Given the description of an element on the screen output the (x, y) to click on. 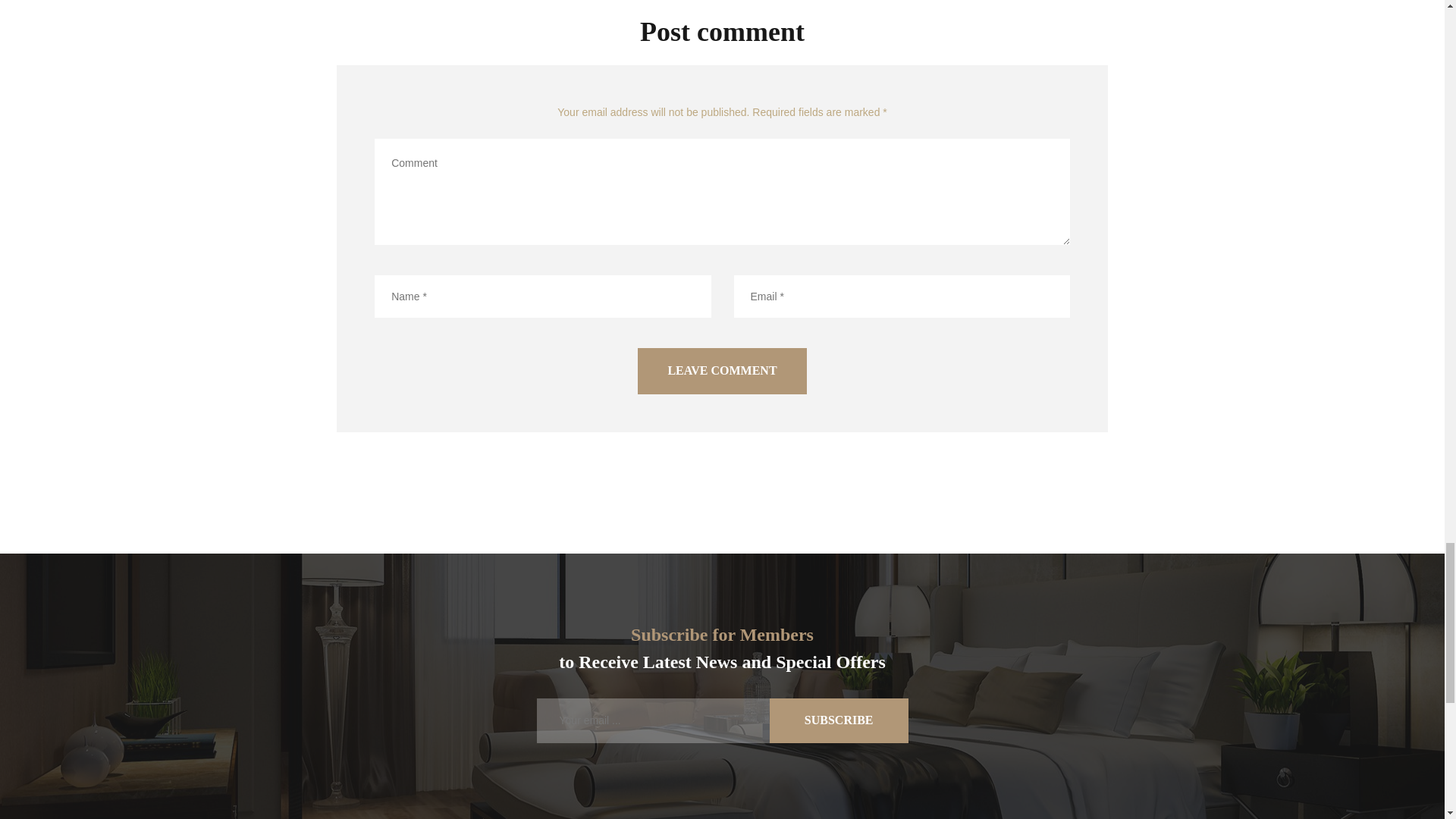
SUBSCRIBE (839, 720)
Leave Comment (721, 370)
Leave Comment (721, 370)
